Given the description of an element on the screen output the (x, y) to click on. 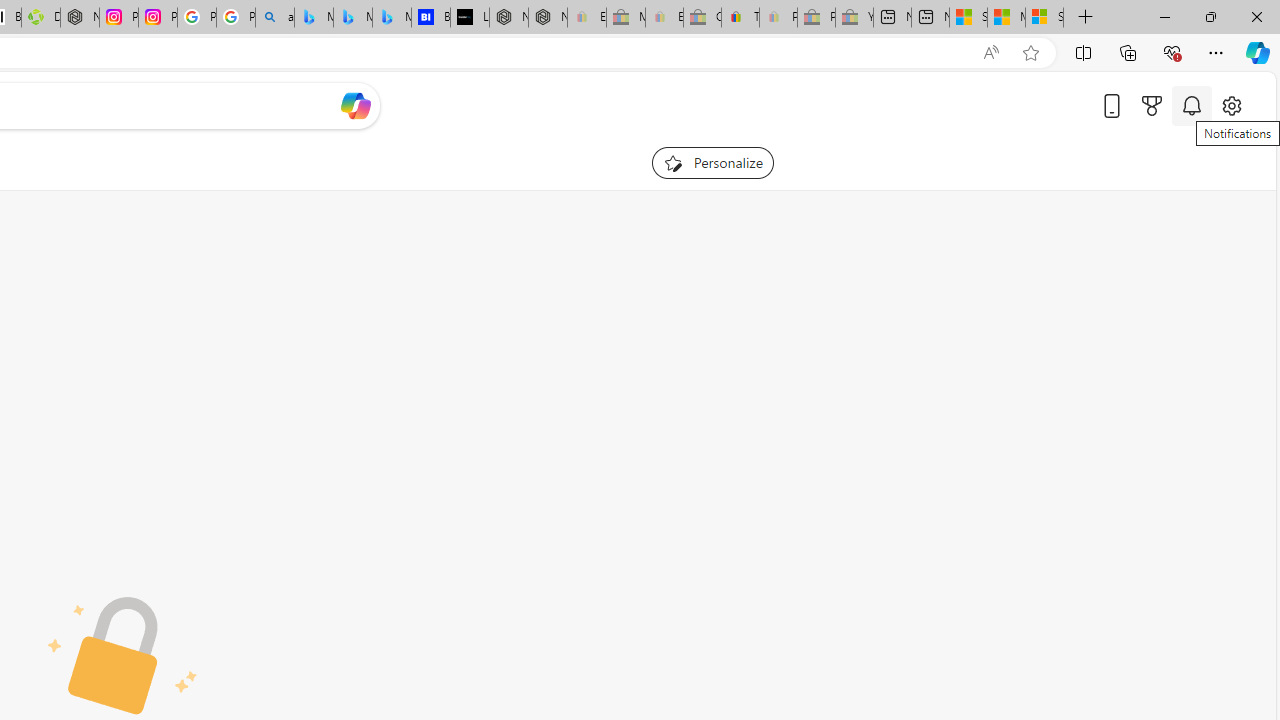
Personalize your feed" (712, 162)
Nordace - Nordace Edin Collection (79, 17)
Microsoft Bing Travel - Flights from Hong Kong to Bangkok (313, 17)
